Given the description of an element on the screen output the (x, y) to click on. 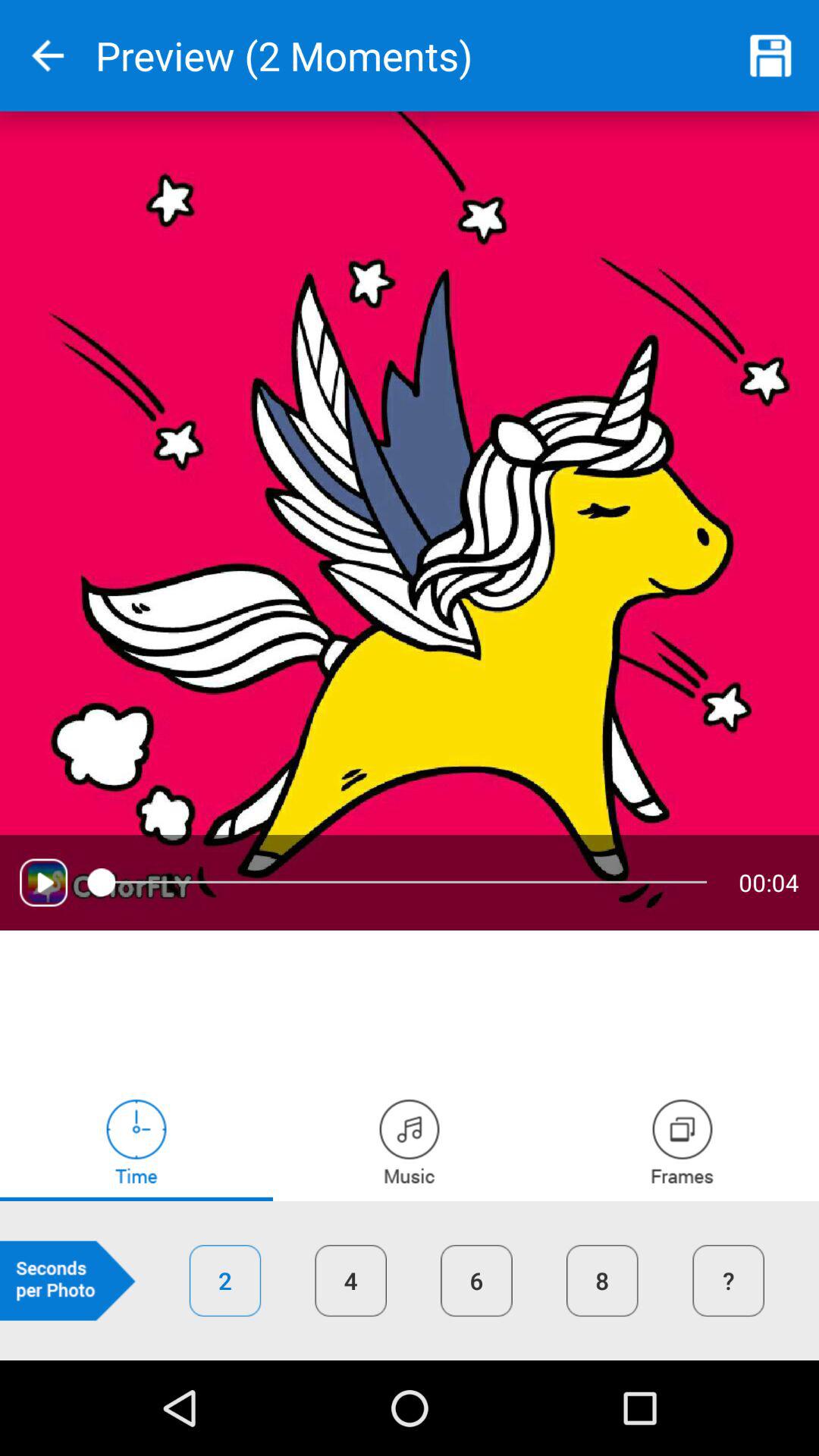
alarm (136, 1141)
